Given the description of an element on the screen output the (x, y) to click on. 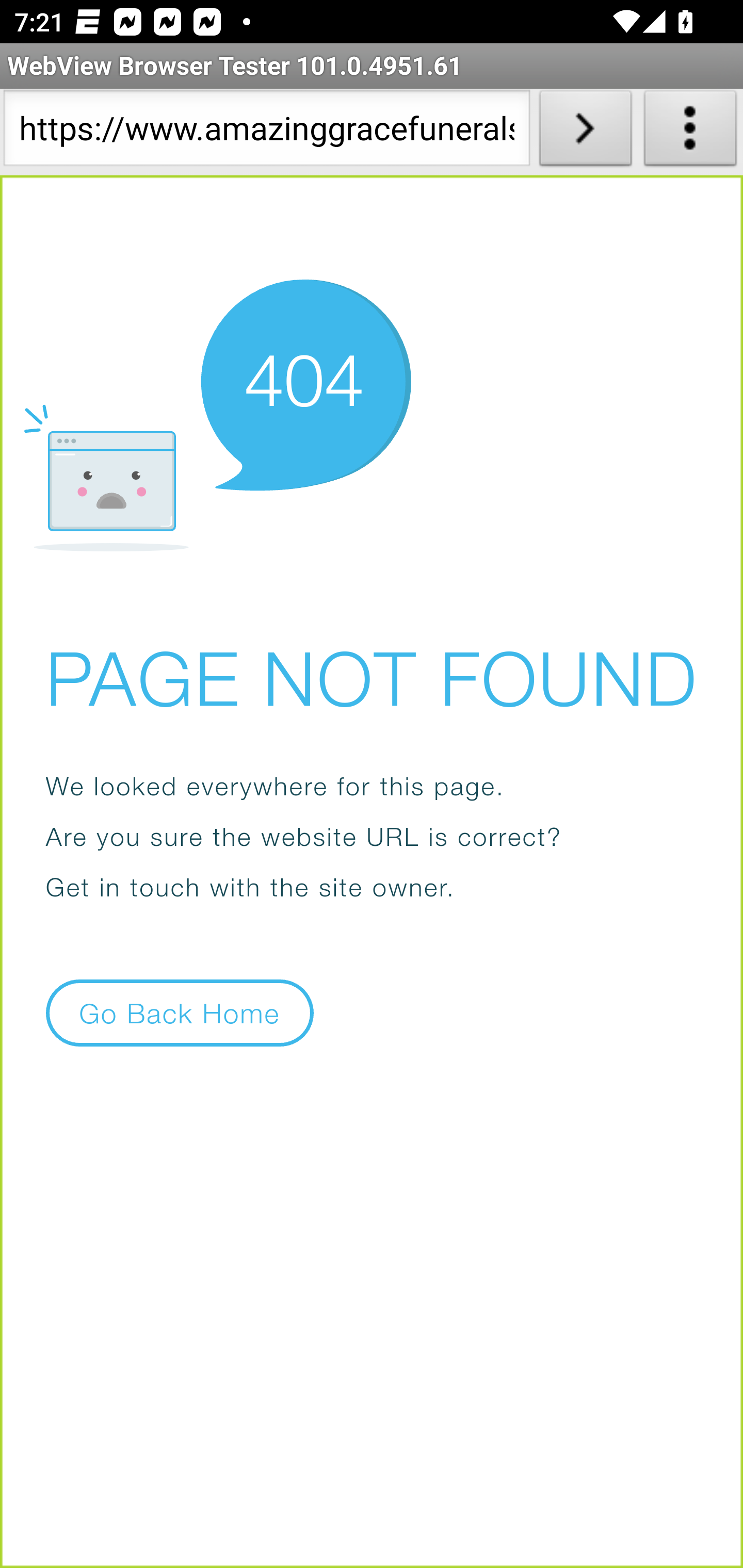
Load URL (585, 132)
About WebView (690, 132)
Go Back Home (179, 1012)
